Given the description of an element on the screen output the (x, y) to click on. 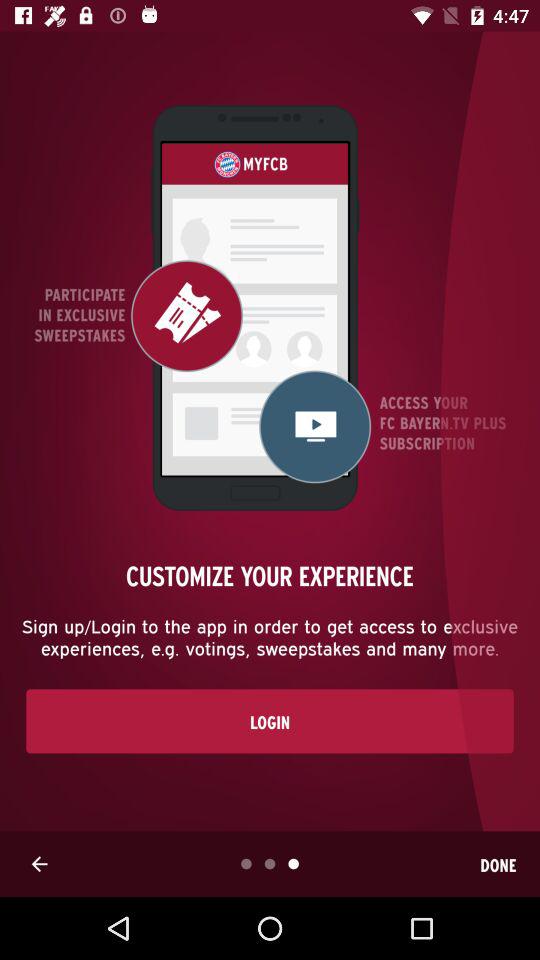
turn off the icon below the login item (39, 864)
